Given the description of an element on the screen output the (x, y) to click on. 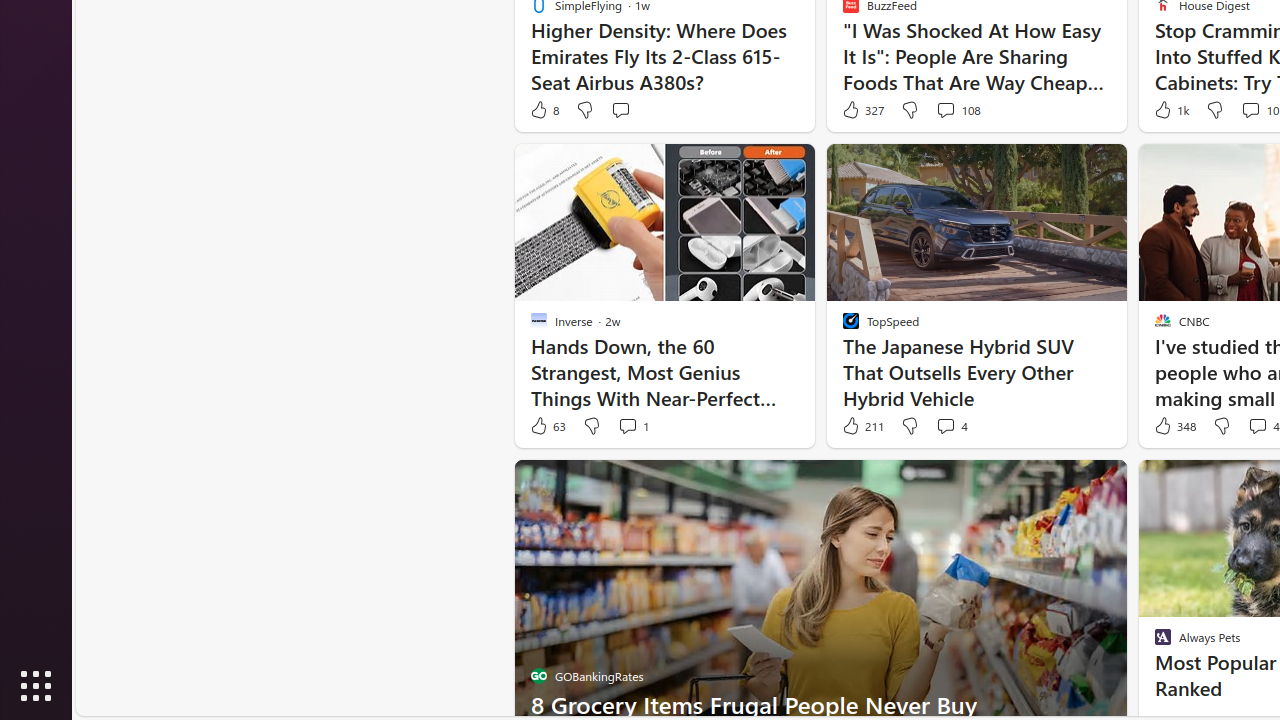
327 Like Element type: toggle-button (862, 110)
View comments 49 Comment Element type: push-button (1257, 425)
8 Like Element type: toggle-button (543, 110)
View comments 103 Comment Element type: push-button (1250, 110)
View comments 1 Comment Element type: push-button (627, 425)
